Given the description of an element on the screen output the (x, y) to click on. 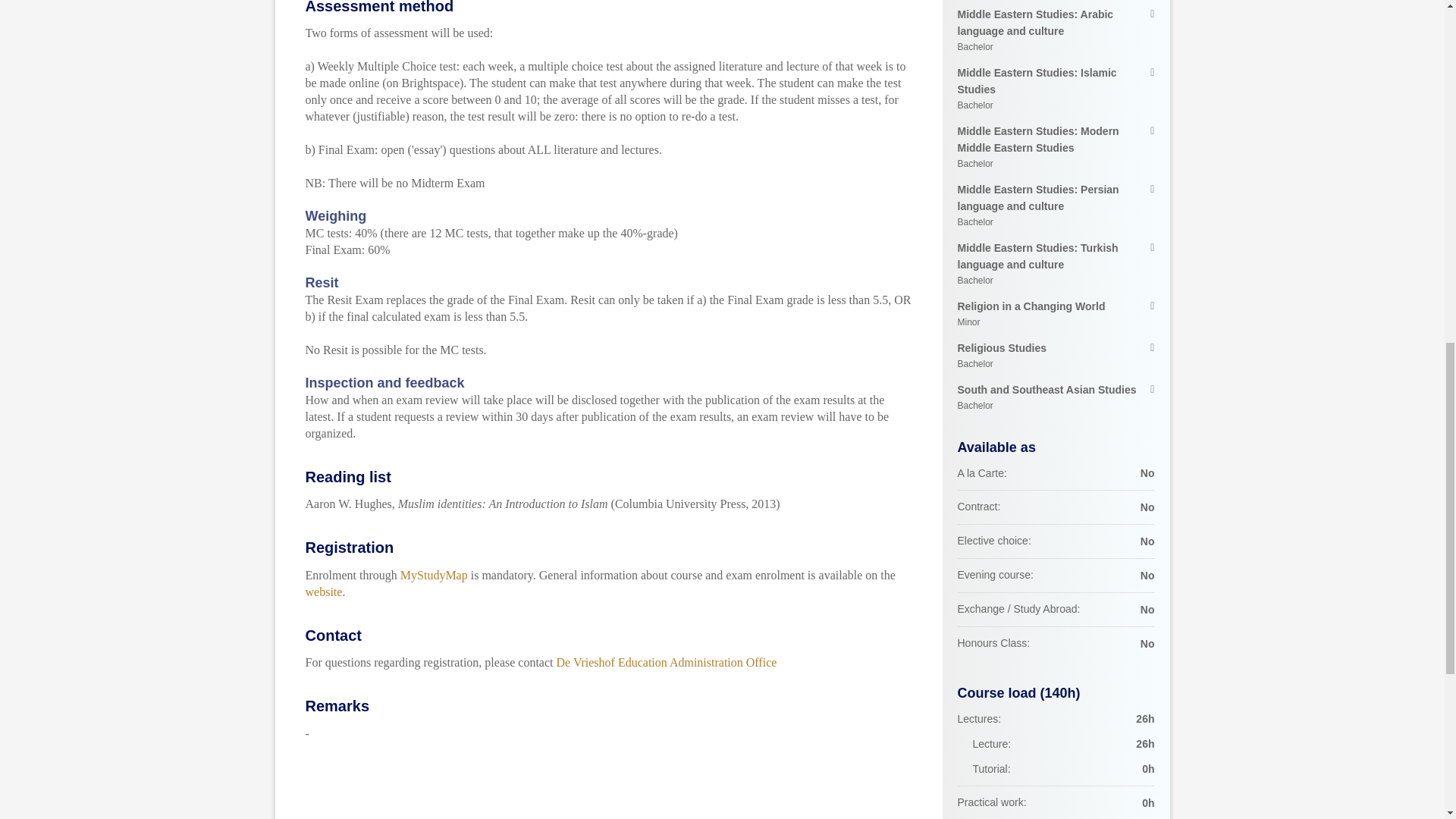
website (1055, 356)
De Vrieshof Education Administration Office (323, 591)
MyStudyMap (666, 662)
